Given the description of an element on the screen output the (x, y) to click on. 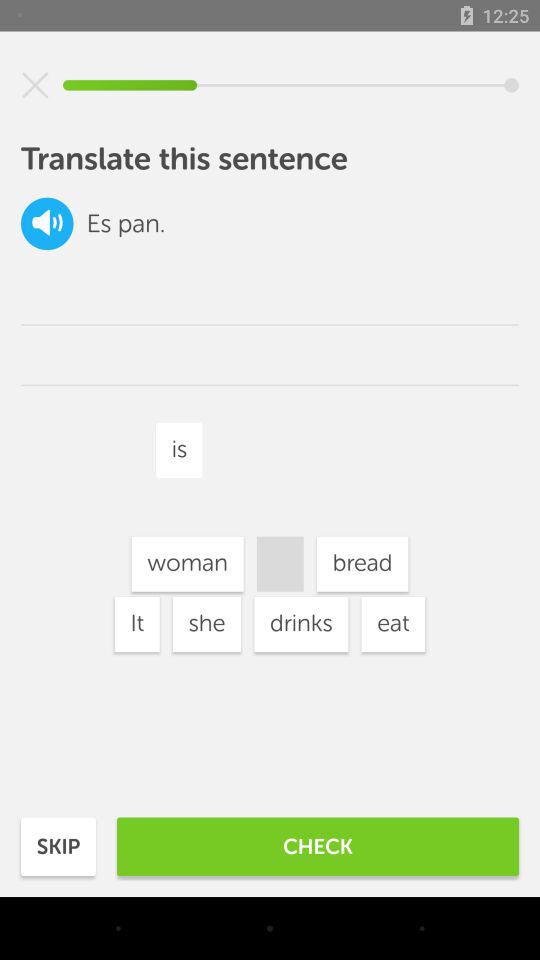
press the icon below the is icon (301, 624)
